Given the description of an element on the screen output the (x, y) to click on. 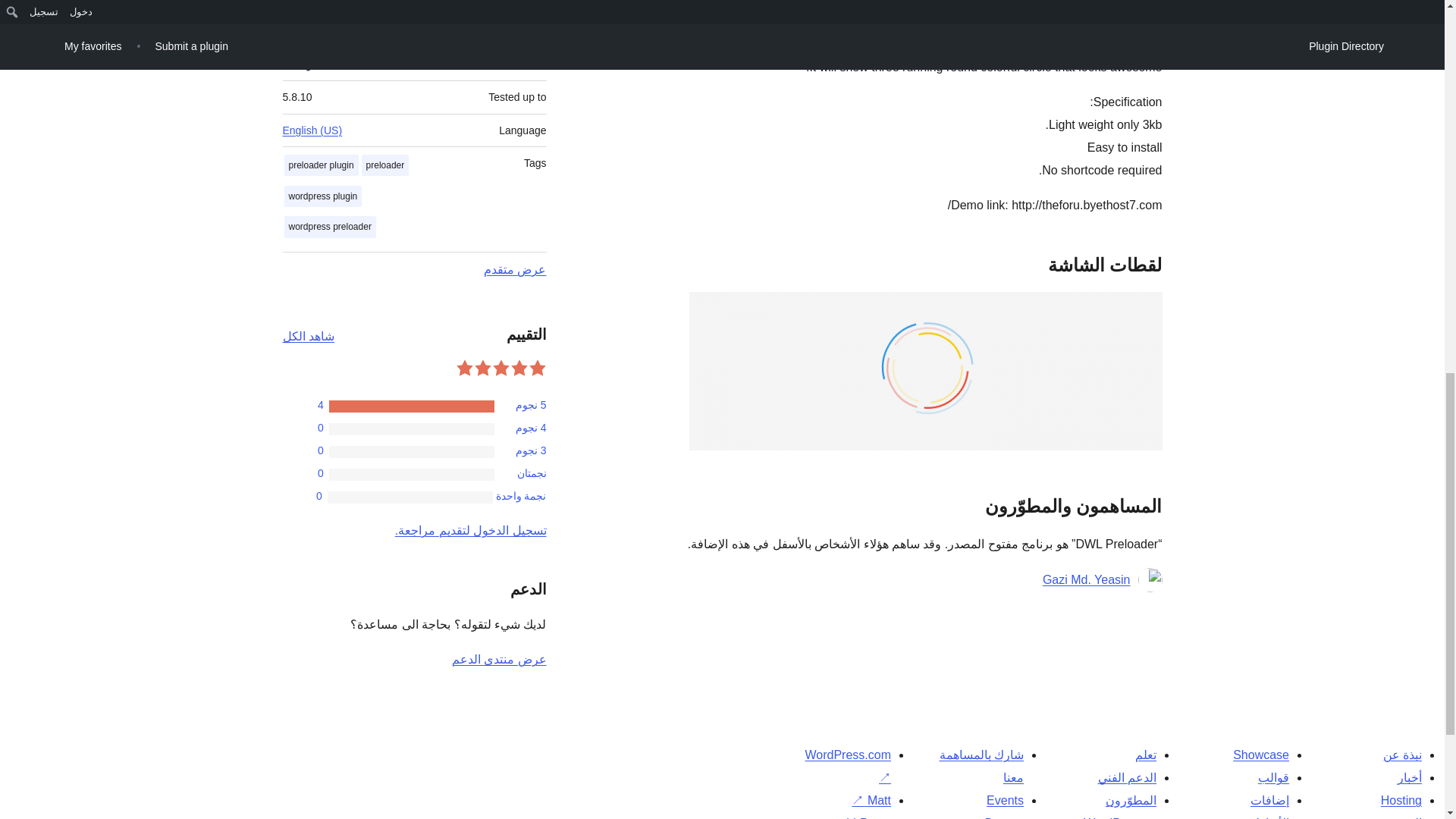
Gazi Md. Yeasin (1086, 579)
